Given the description of an element on the screen output the (x, y) to click on. 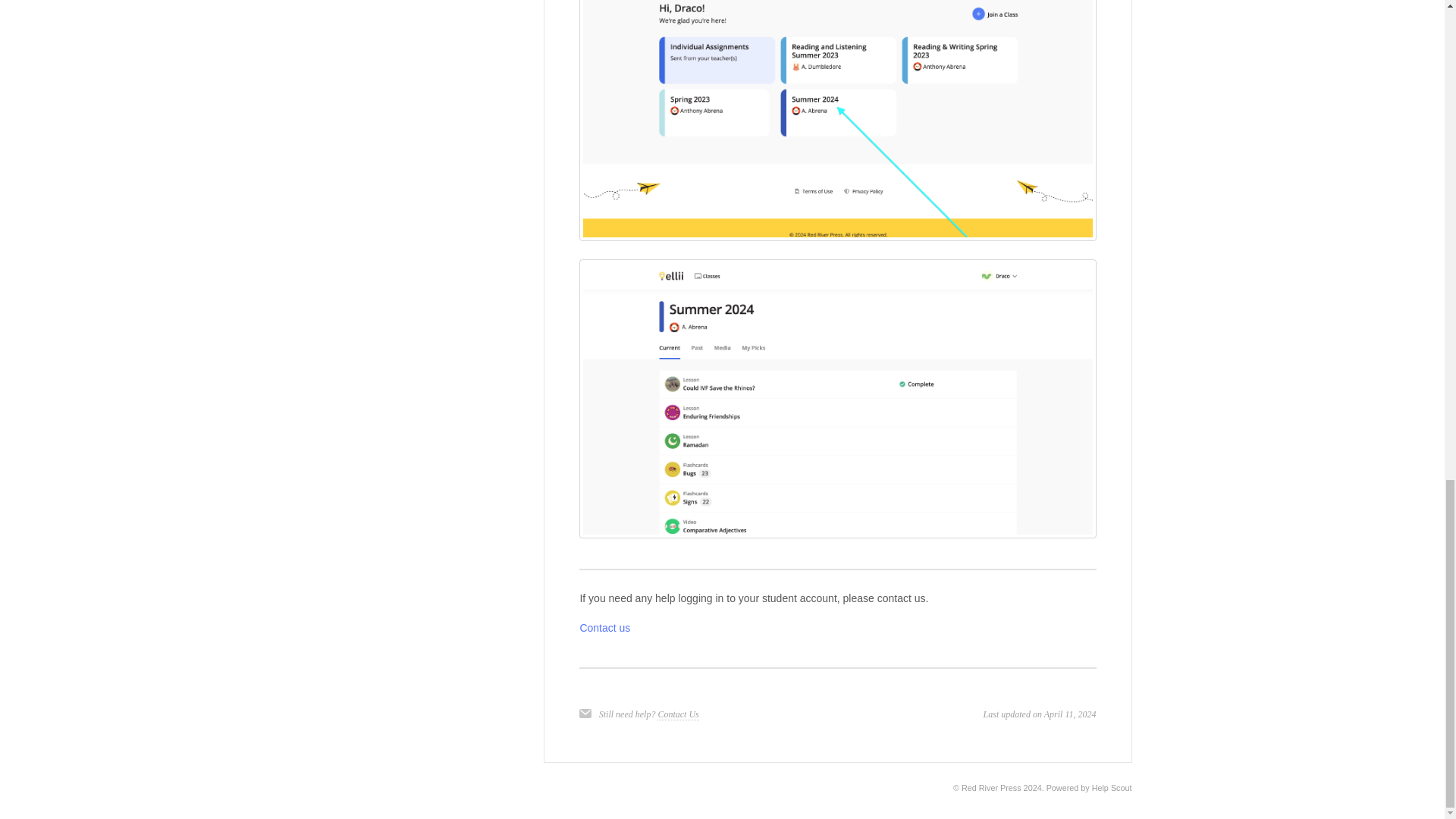
Red River Press (991, 787)
Contact Us (678, 714)
Contact us (604, 627)
Help Scout (1112, 787)
